Given the description of an element on the screen output the (x, y) to click on. 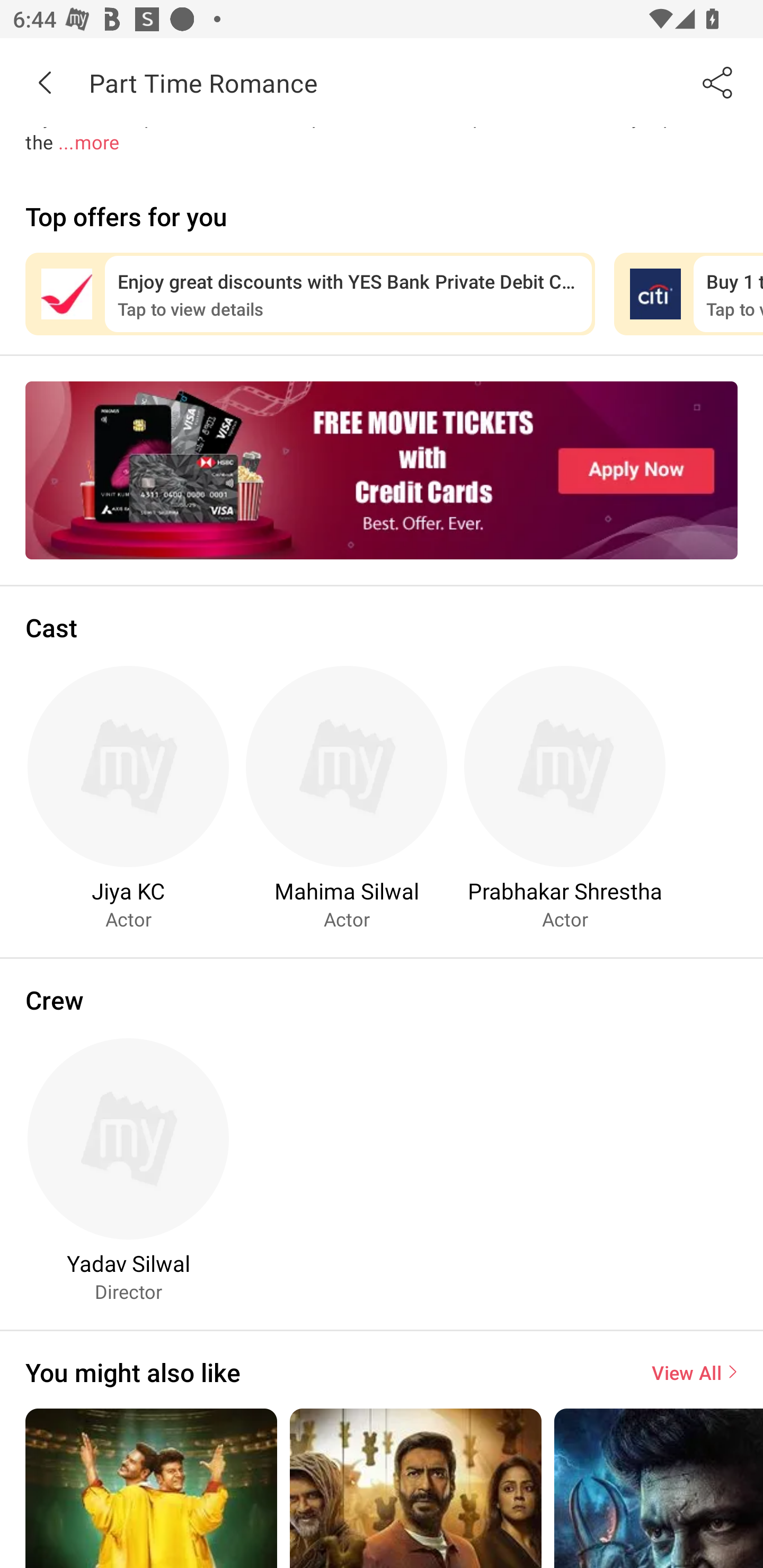
Back (44, 82)
Share (718, 82)
Jiya KC Actor (128, 797)
Mahima Silwal Actor (346, 797)
Prabhakar Shrestha Actor (564, 797)
Yadav Silwal Director (128, 1170)
View All (694, 1371)
